Given the description of an element on the screen output the (x, y) to click on. 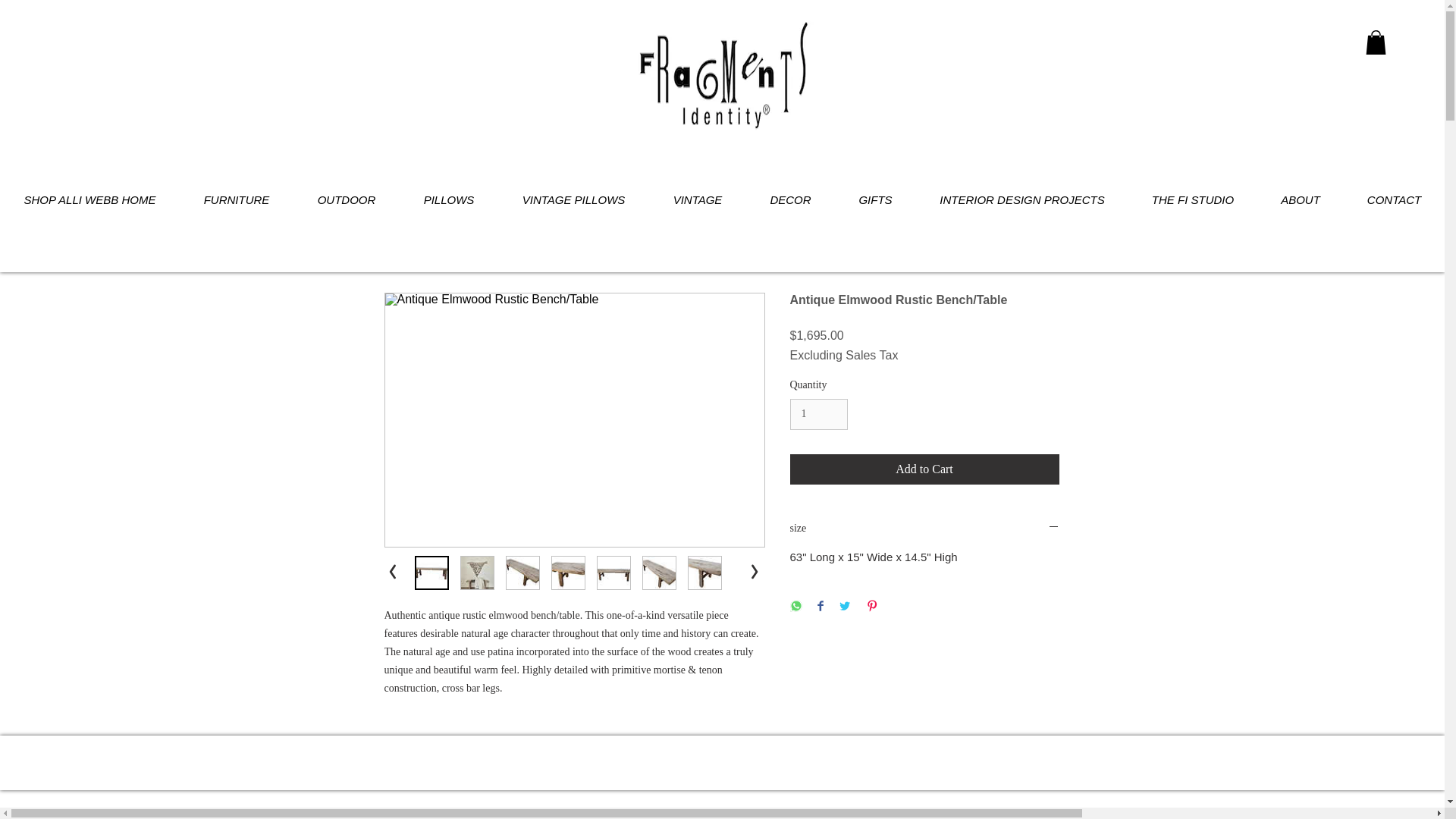
INTERIOR DESIGN PROJECTS (1021, 200)
GIFTS (874, 200)
FURNITURE (236, 200)
PILLOWS (447, 200)
VINTAGE (697, 200)
SHOP ALLI WEBB HOME (89, 200)
Add to Cart (924, 469)
THE FI STUDIO (1192, 200)
OUTDOOR (346, 200)
size (924, 528)
1 (818, 413)
CONTACT (1393, 200)
VINTAGE PILLOWS (573, 200)
DECOR (789, 200)
ABOUT (1300, 200)
